Given the description of an element on the screen output the (x, y) to click on. 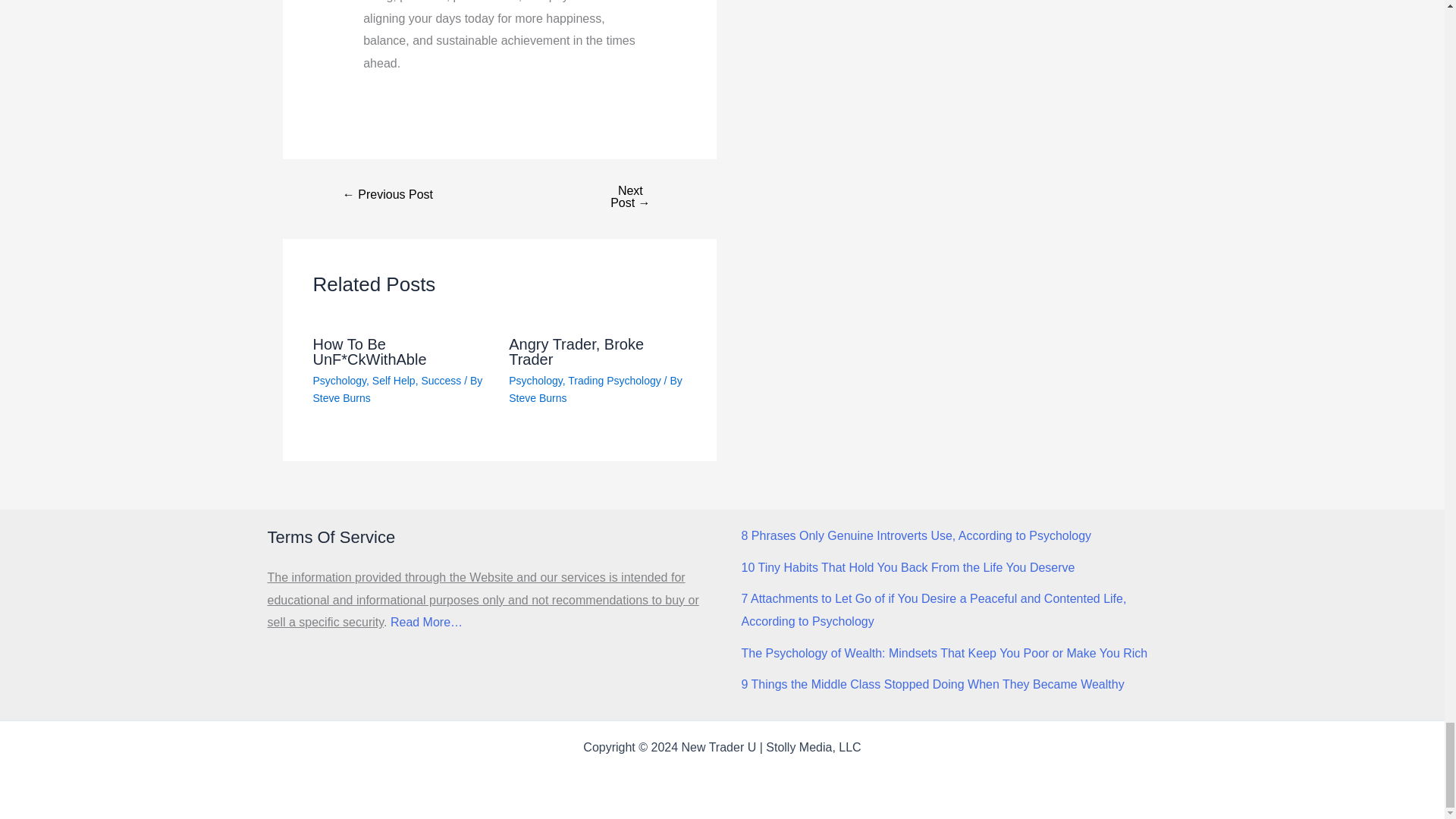
View all posts by Steve Burns (537, 398)
View all posts by Steve Burns (341, 398)
10 Laws That Will Make You Have Self-Discipline and Thrive (630, 197)
